Given the description of an element on the screen output the (x, y) to click on. 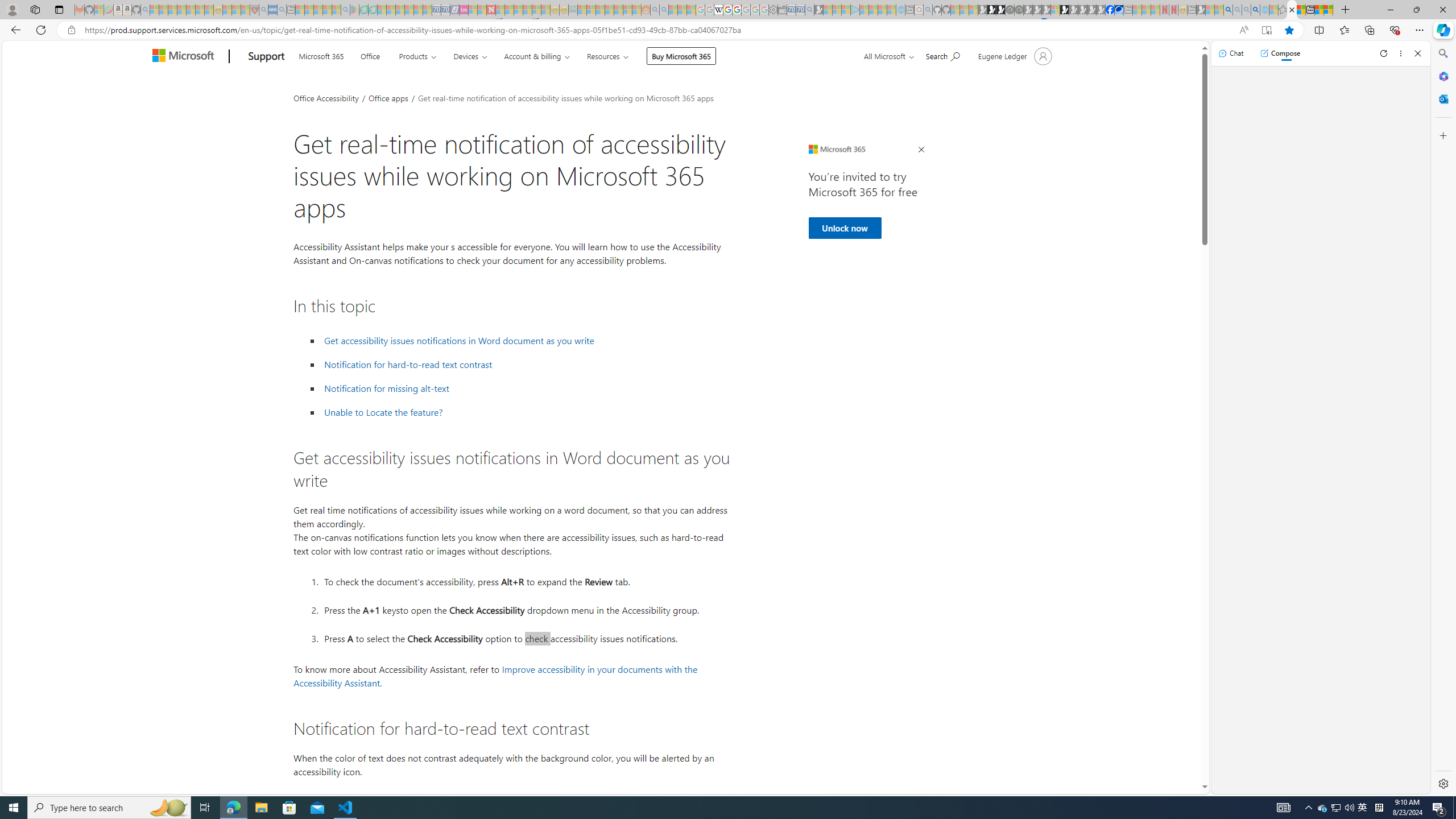
Office (369, 54)
